Given the description of an element on the screen output the (x, y) to click on. 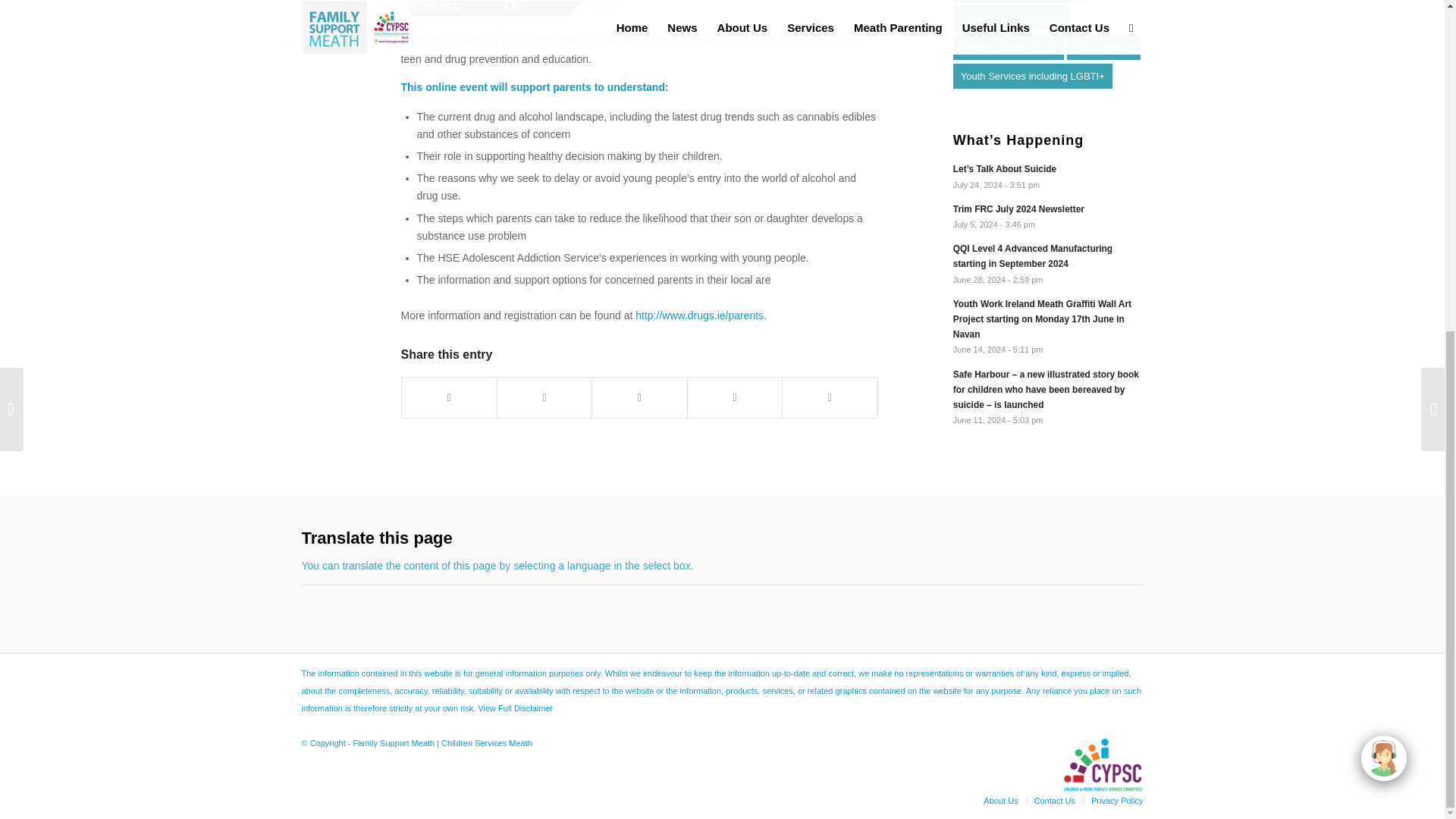
Trim FRC July 2024 Newsletter (1047, 215)
